Given the description of an element on the screen output the (x, y) to click on. 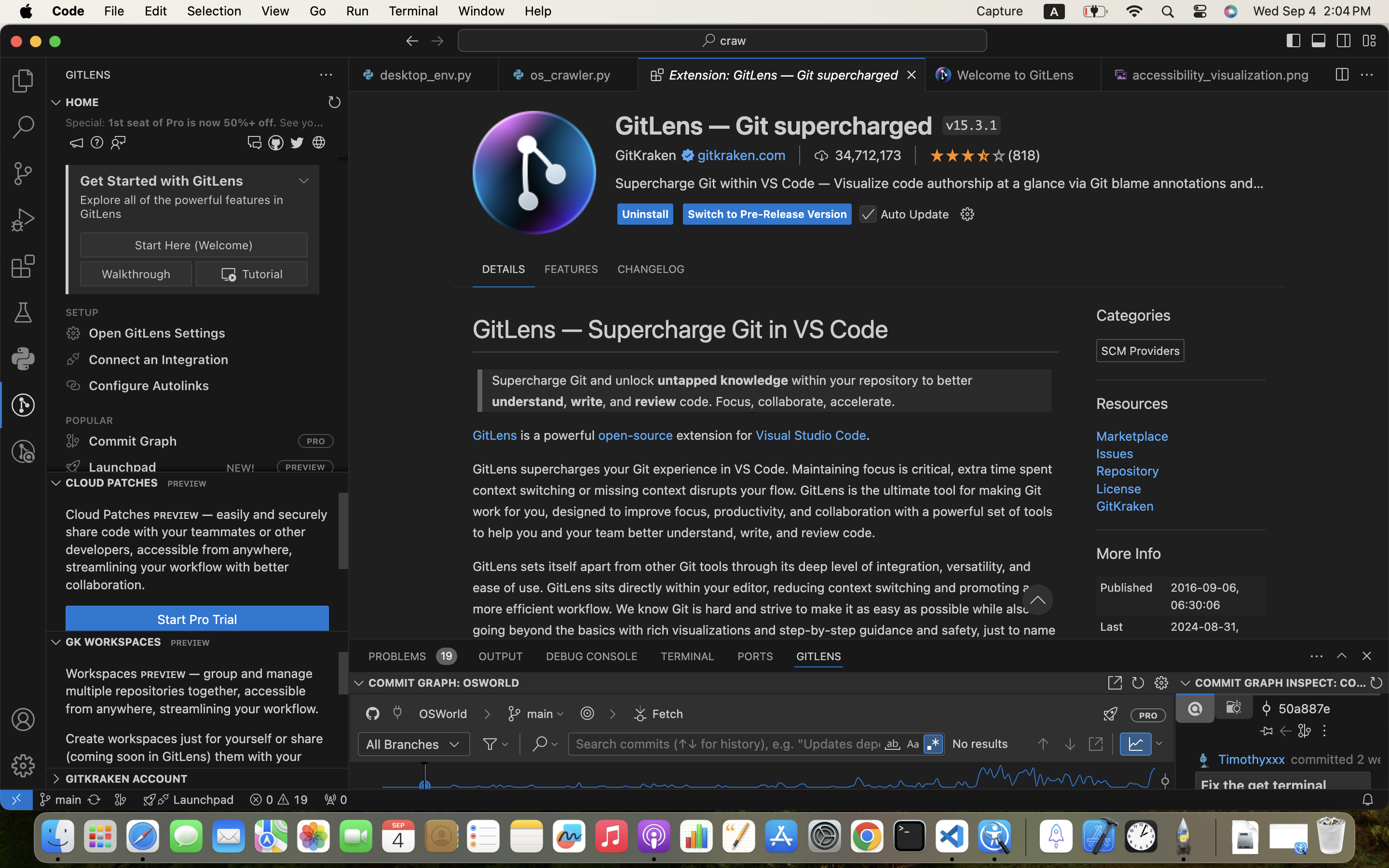
Inspect Element type: AXStaticText (1094, 538)
Get Started Walkthrough Element type: AXStaticText (1218, 280)
Start Pro Trial Element type: AXStaticText (1090, 426)
powerful Element type: AXStaticText (1134, 211)
 Element type: AXCheckBox (933, 744)
